Given the description of an element on the screen output the (x, y) to click on. 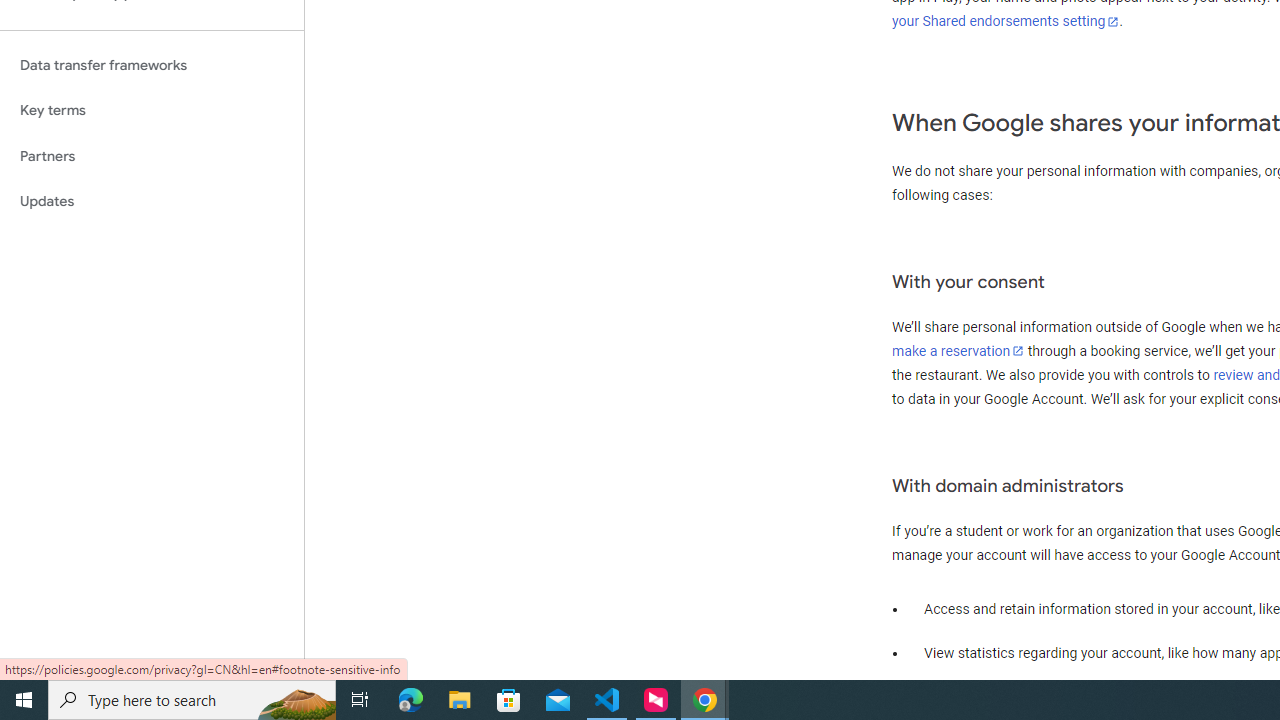
Partners (152, 156)
Key terms (152, 110)
Data transfer frameworks (152, 65)
Updates (152, 201)
